Given the description of an element on the screen output the (x, y) to click on. 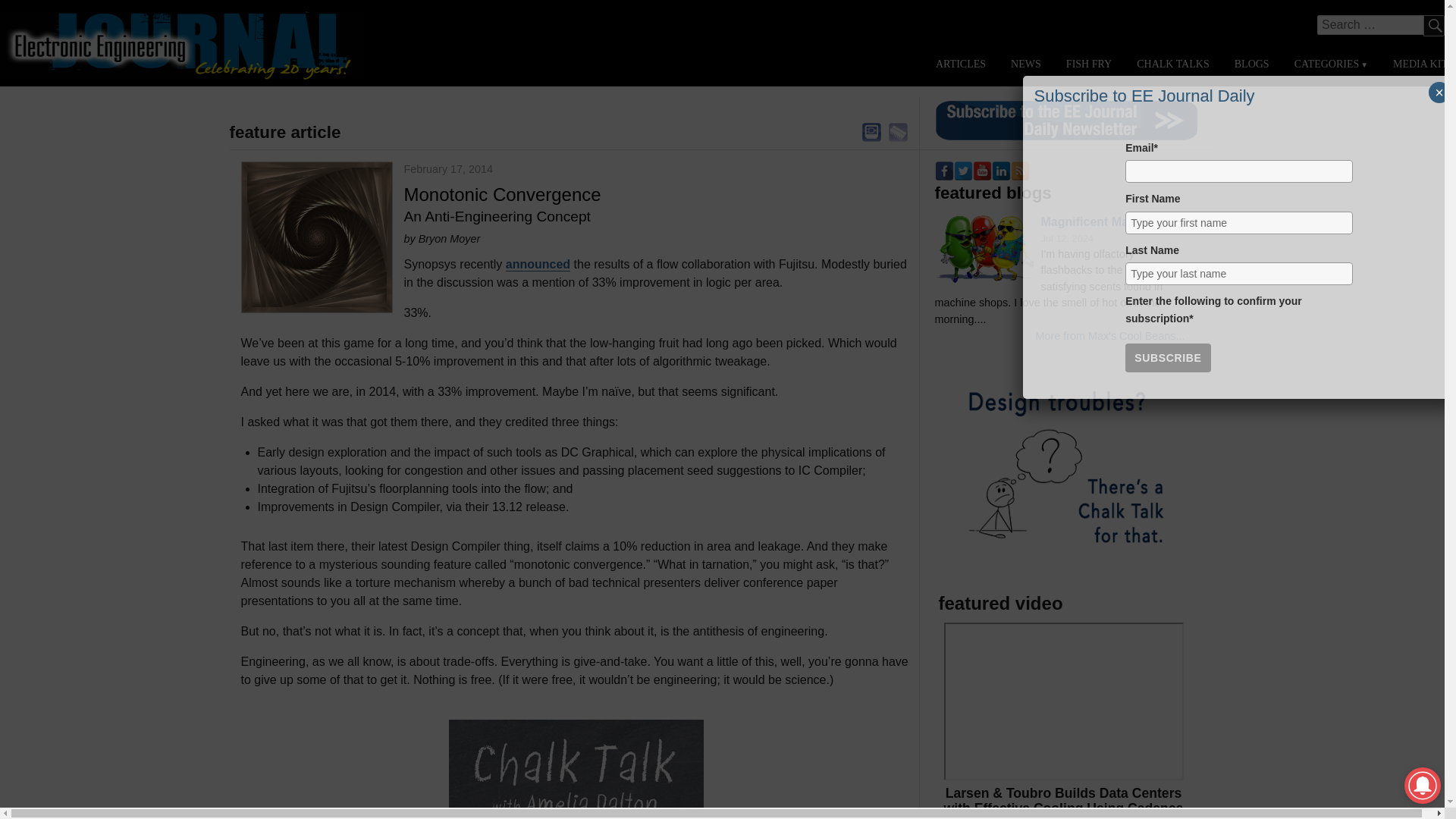
ARTICLES (960, 63)
NEWS (1025, 63)
announced (537, 264)
CATEGORIES (1330, 63)
Semiconductor (898, 131)
BLOGS (1251, 63)
FISH FRY (1089, 63)
EDA (872, 131)
CHALK TALKS (1172, 63)
